Given the description of an element on the screen output the (x, y) to click on. 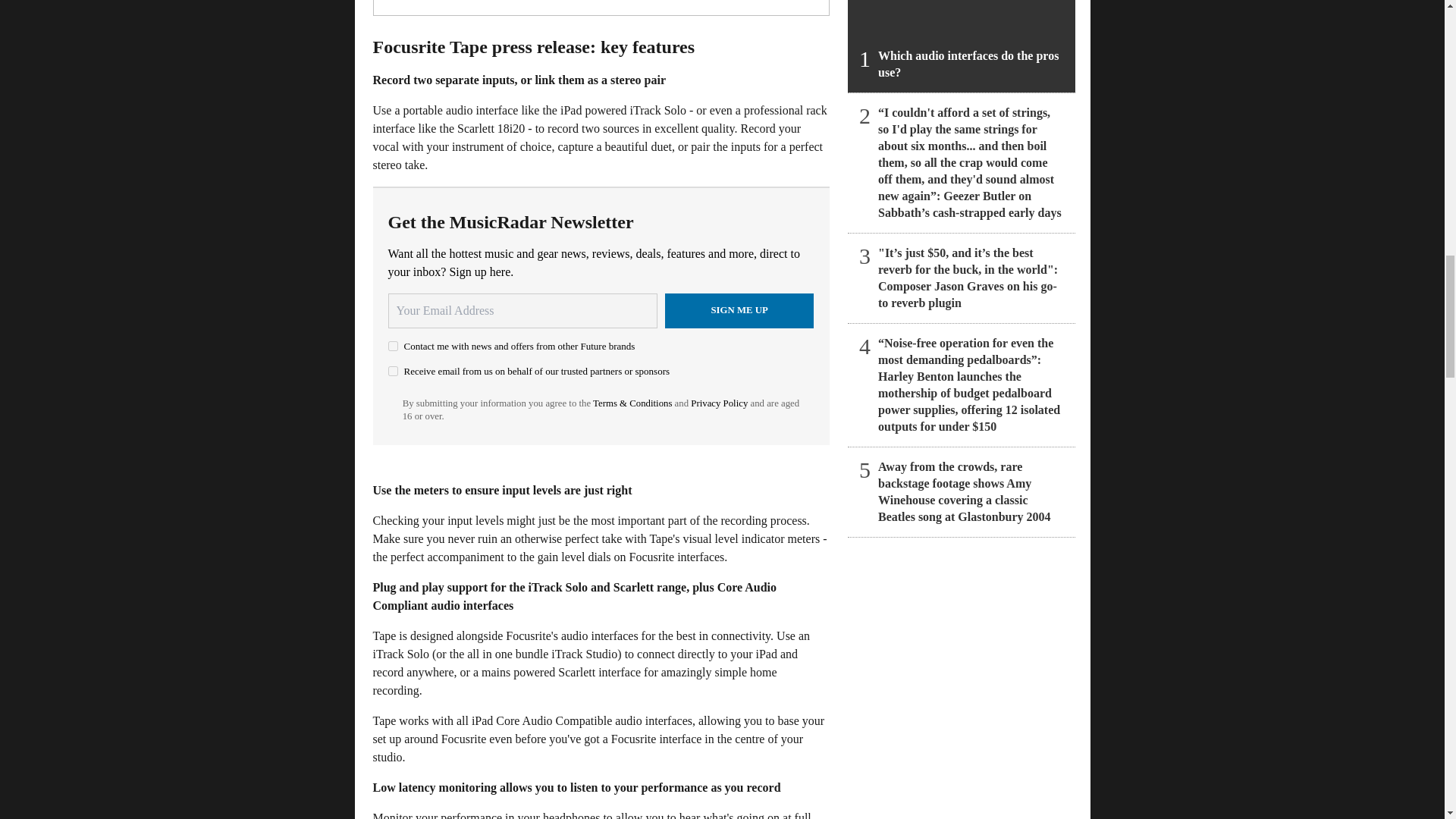
Sign me up (739, 310)
on (392, 370)
on (392, 346)
Which audio interfaces do the pros use? (961, 46)
